Given the description of an element on the screen output the (x, y) to click on. 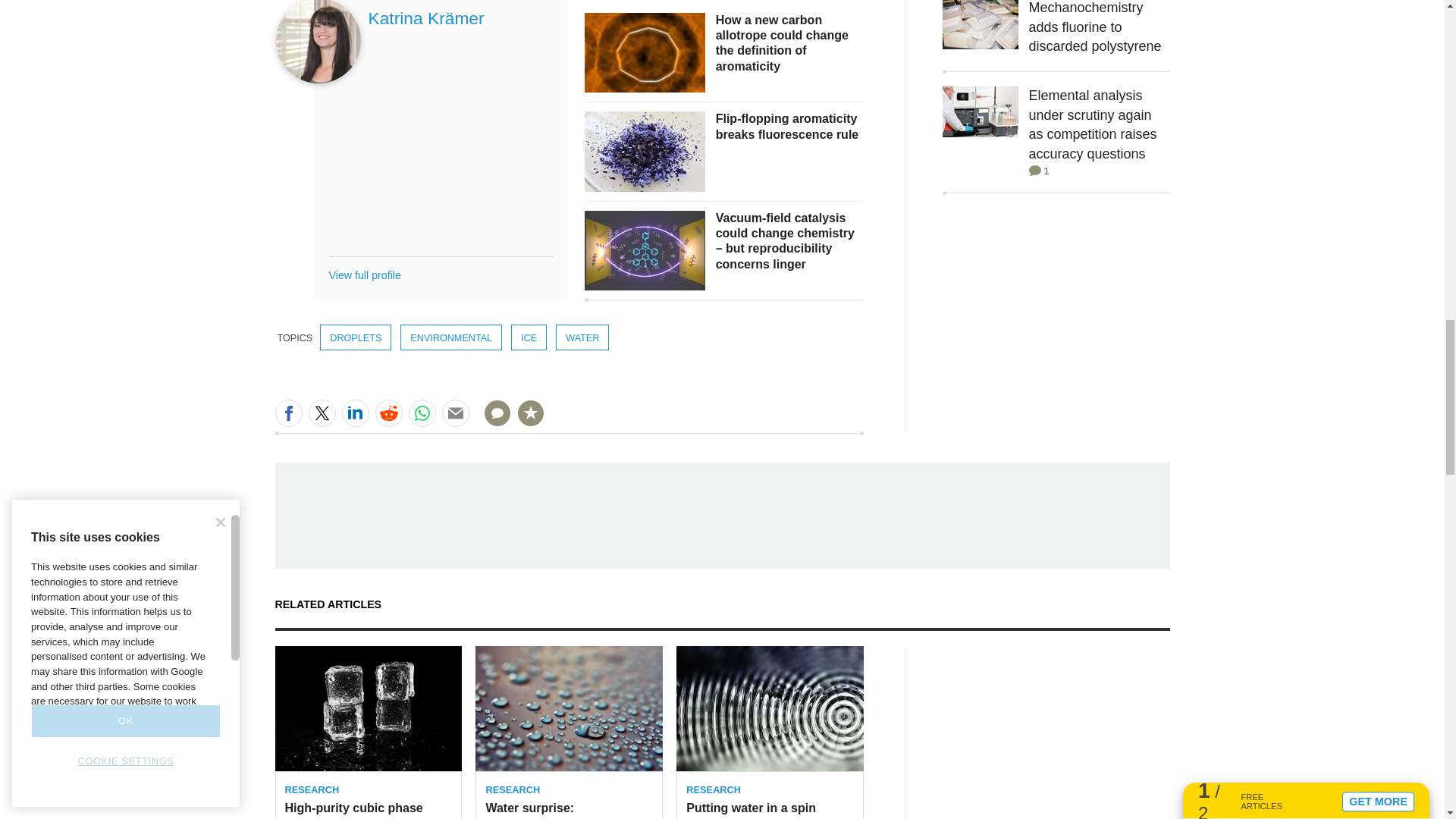
Share this on Facebook (288, 412)
Share this by email (454, 412)
NO COMMENTS (492, 421)
Share this on WhatsApp (421, 412)
Share this on Reddit (387, 412)
Share this on LinkedIn (354, 412)
